Given the description of an element on the screen output the (x, y) to click on. 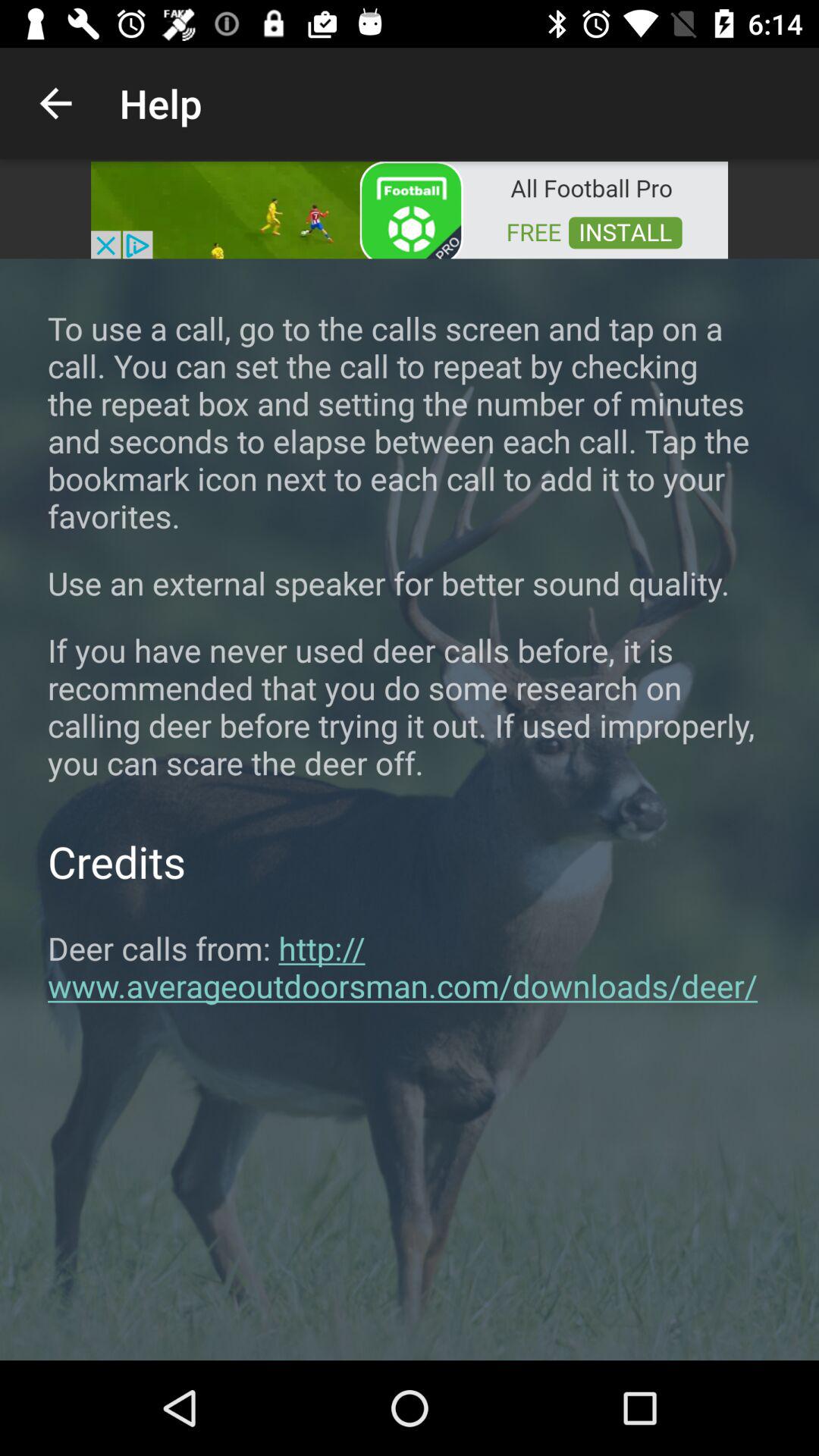
advertisement page (409, 208)
